Given the description of an element on the screen output the (x, y) to click on. 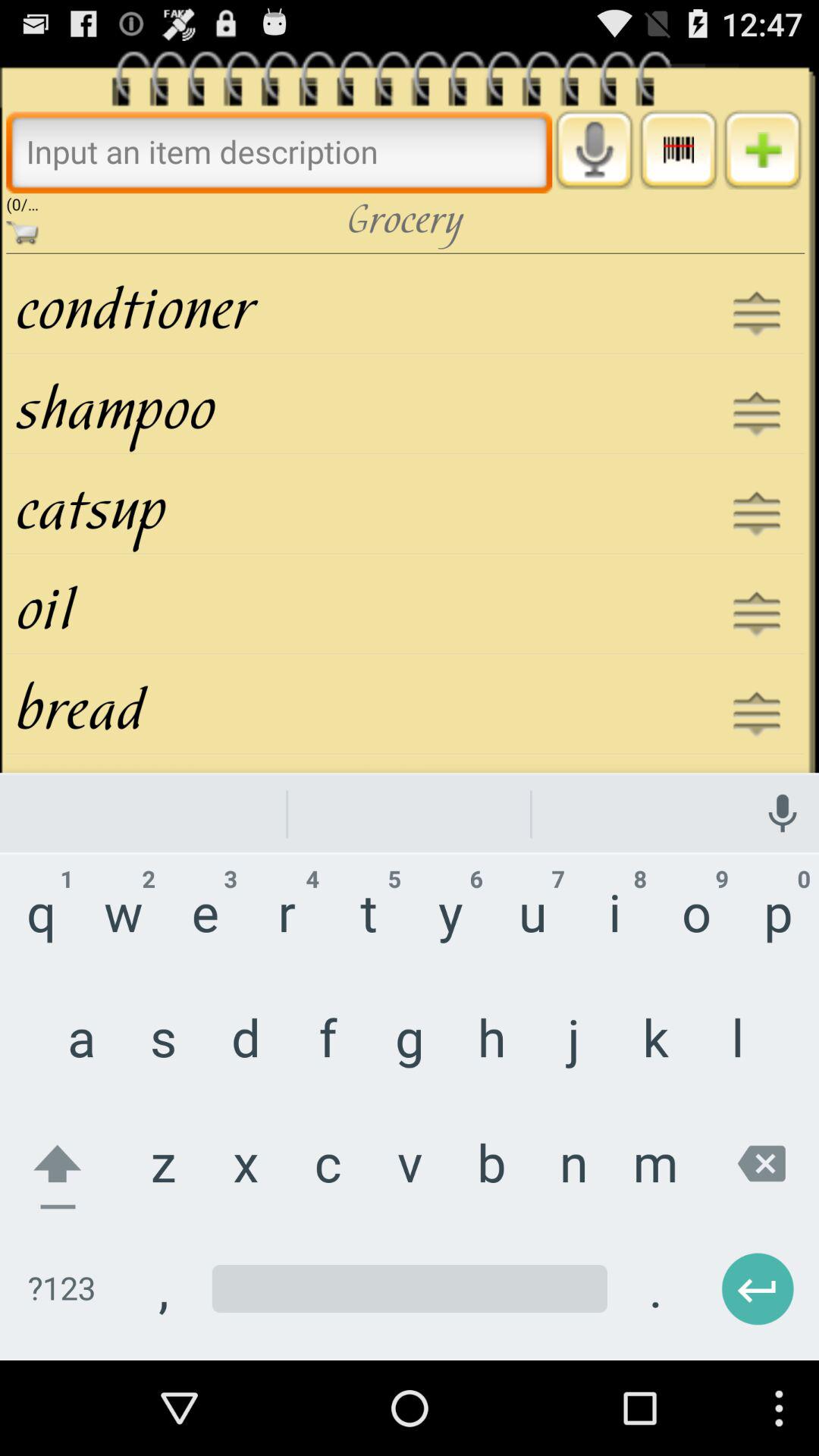
insert the description (279, 151)
